Given the description of an element on the screen output the (x, y) to click on. 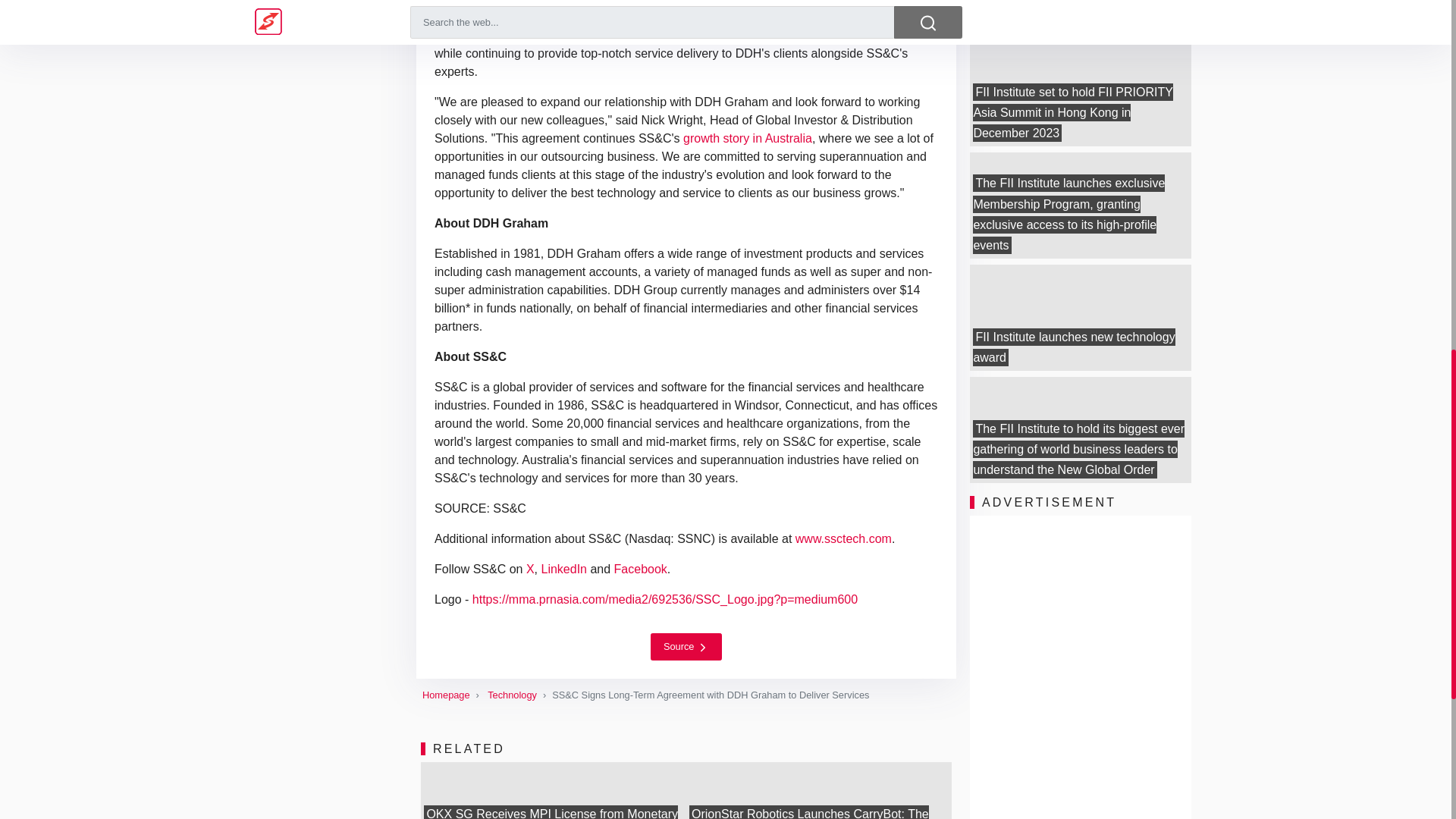
Homepage (446, 695)
Facebook (640, 568)
www.ssctech.com (842, 538)
Technology (512, 695)
Source (686, 646)
growth story in Australia (747, 137)
LinkedIn (564, 568)
